Given the description of an element on the screen output the (x, y) to click on. 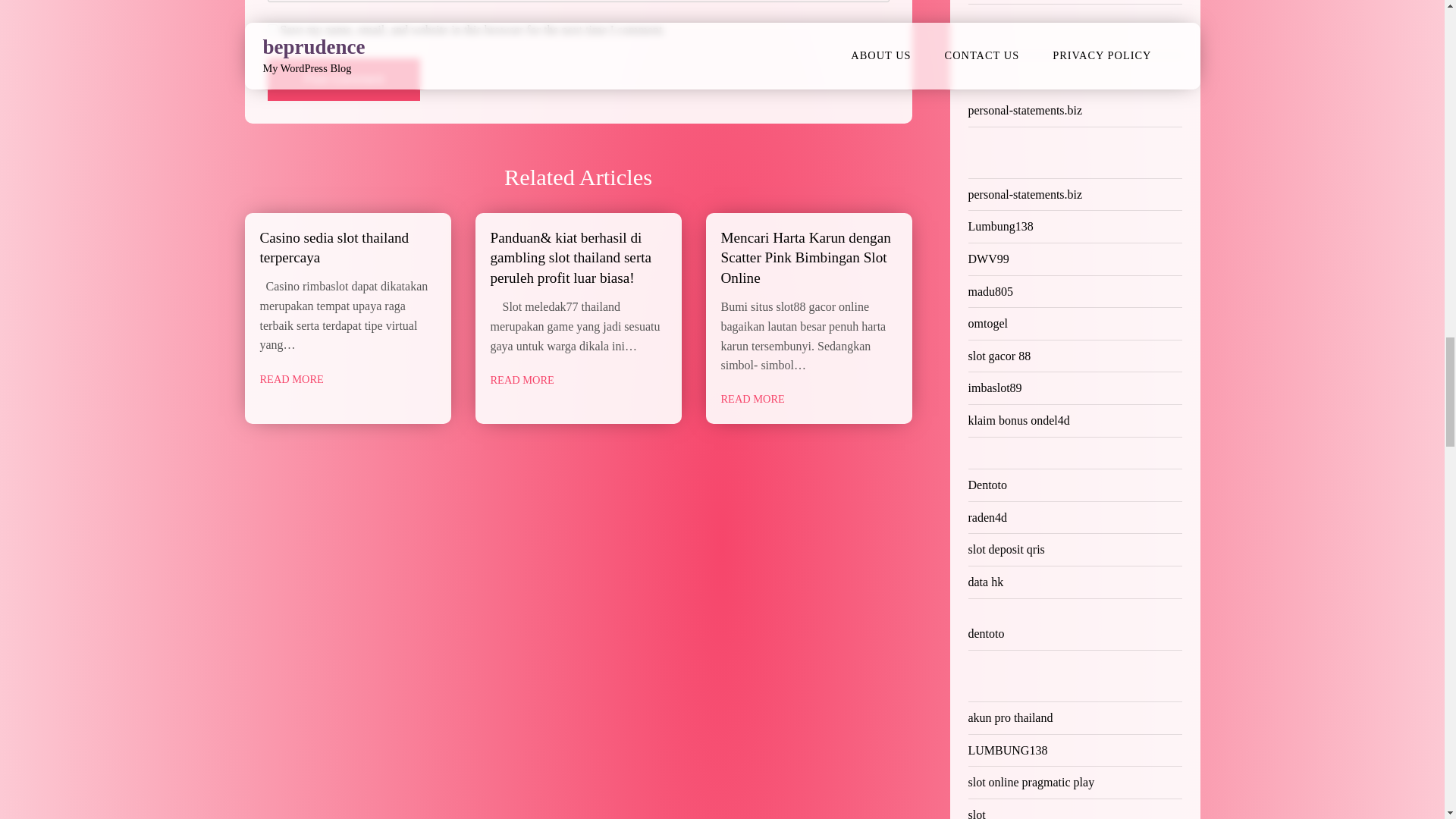
READ MORE (752, 398)
yes (271, 29)
Post Comment (343, 79)
READ MORE (521, 380)
READ MORE (291, 379)
Post Comment (343, 79)
Casino sedia slot thailand terpercaya (334, 247)
